Given the description of an element on the screen output the (x, y) to click on. 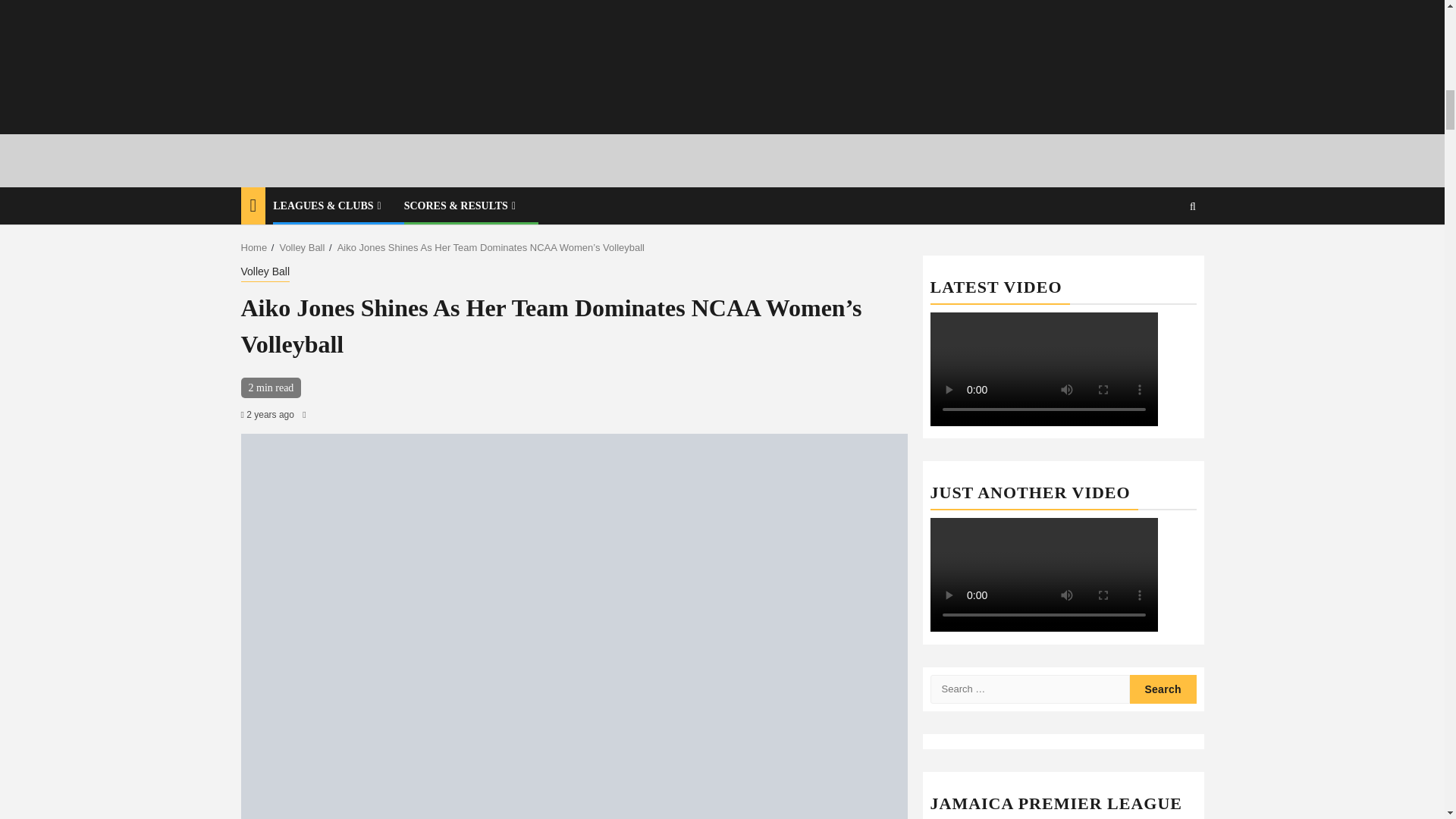
Search (1162, 688)
Search (1162, 688)
